Given the description of an element on the screen output the (x, y) to click on. 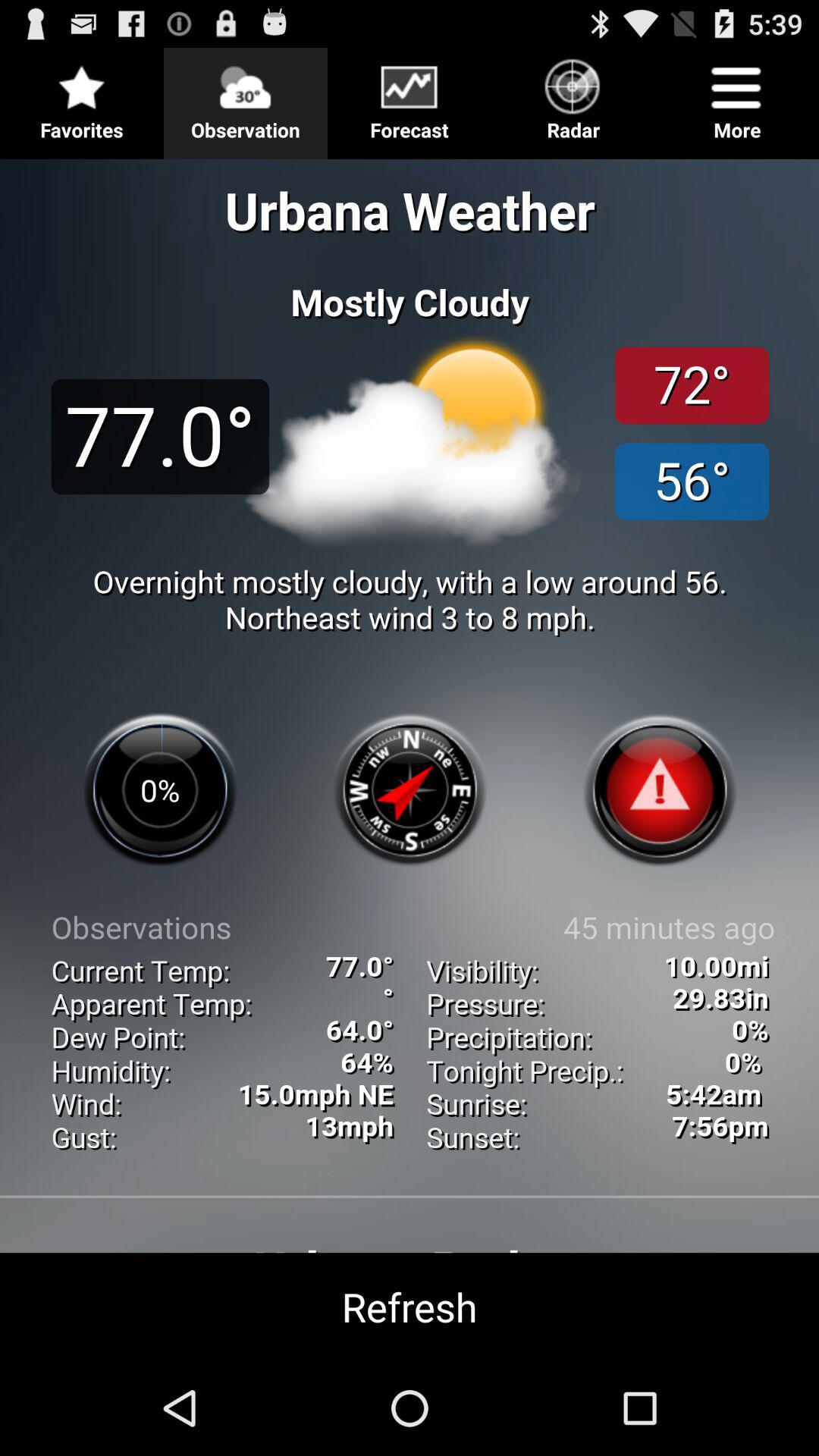
open menu (409, 97)
